Given the description of an element on the screen output the (x, y) to click on. 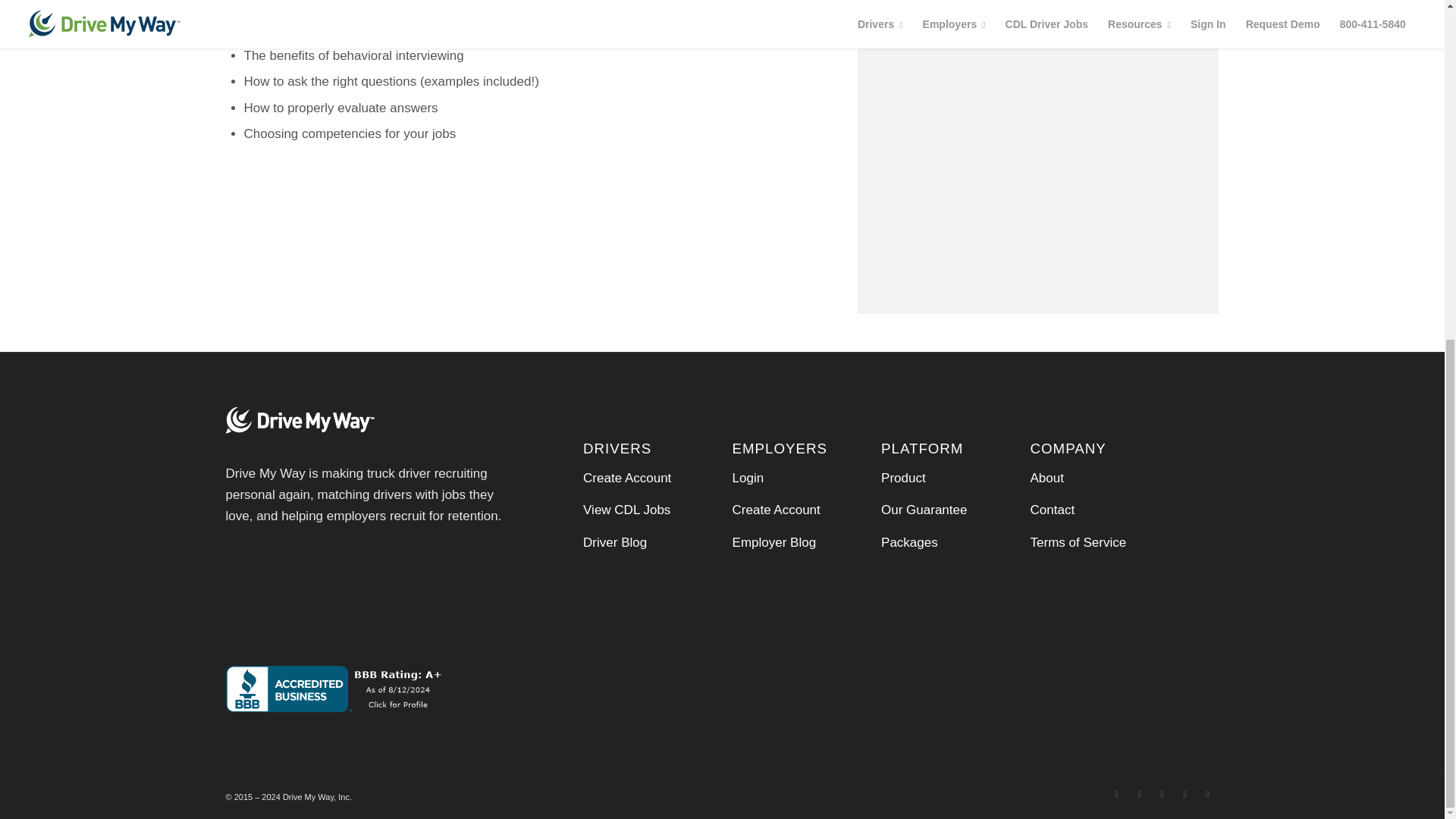
Create Account (627, 477)
Twitter (1139, 793)
Terms of Service (1078, 542)
Employer Blog (774, 542)
Form 1 (374, 595)
Create Account (776, 509)
Driver Blog (614, 542)
Form 0 (1038, 145)
About (1047, 477)
Our Guarantee (923, 509)
